Given the description of an element on the screen output the (x, y) to click on. 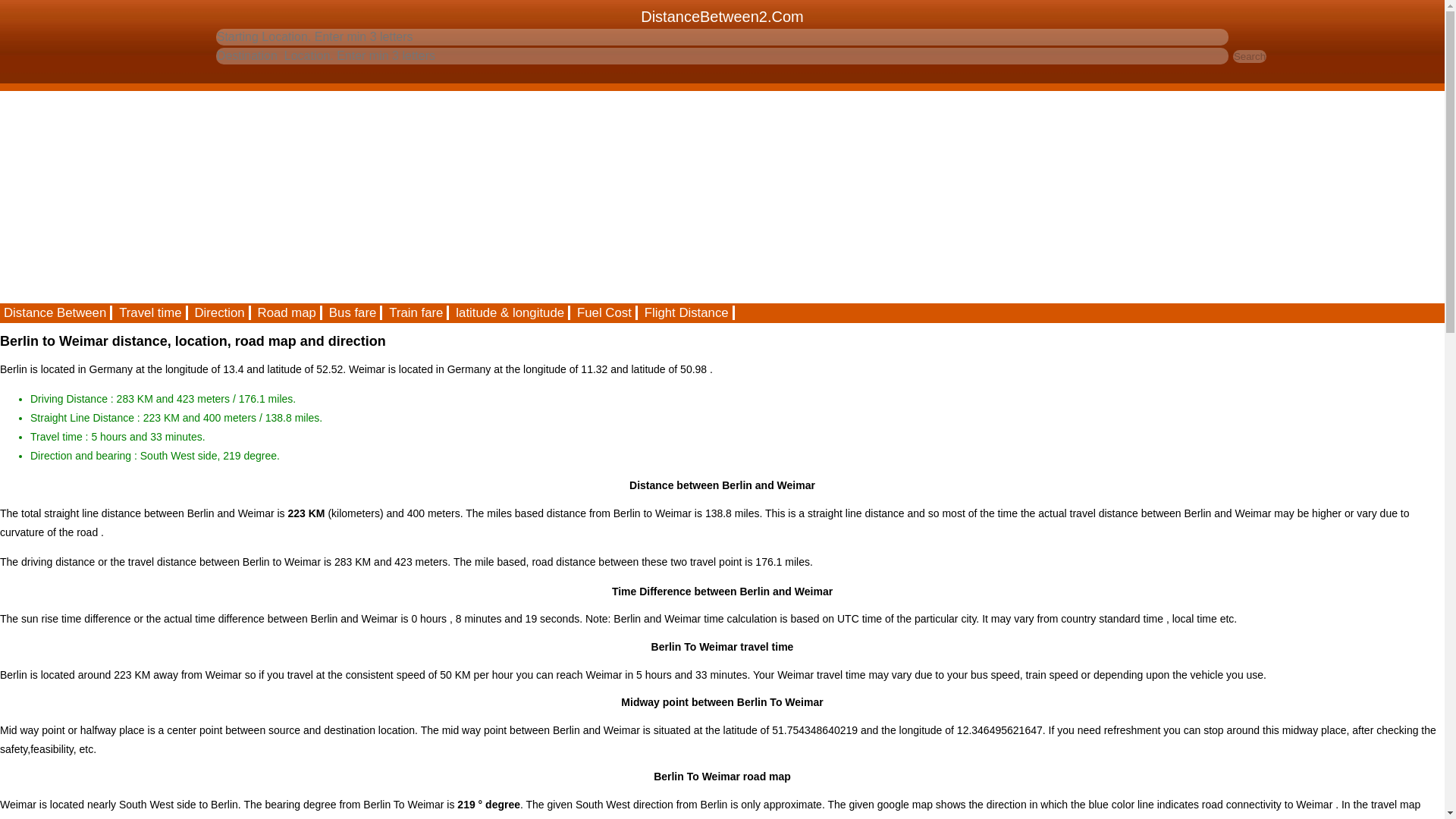
Train fare (416, 312)
Road map (287, 312)
Search (1249, 56)
Travel time (151, 312)
Flight Distance (687, 312)
Search (1249, 56)
Distance Between (56, 312)
Bus fare (353, 312)
driving direction (220, 312)
Fuel Cost (605, 312)
